Given the description of an element on the screen output the (x, y) to click on. 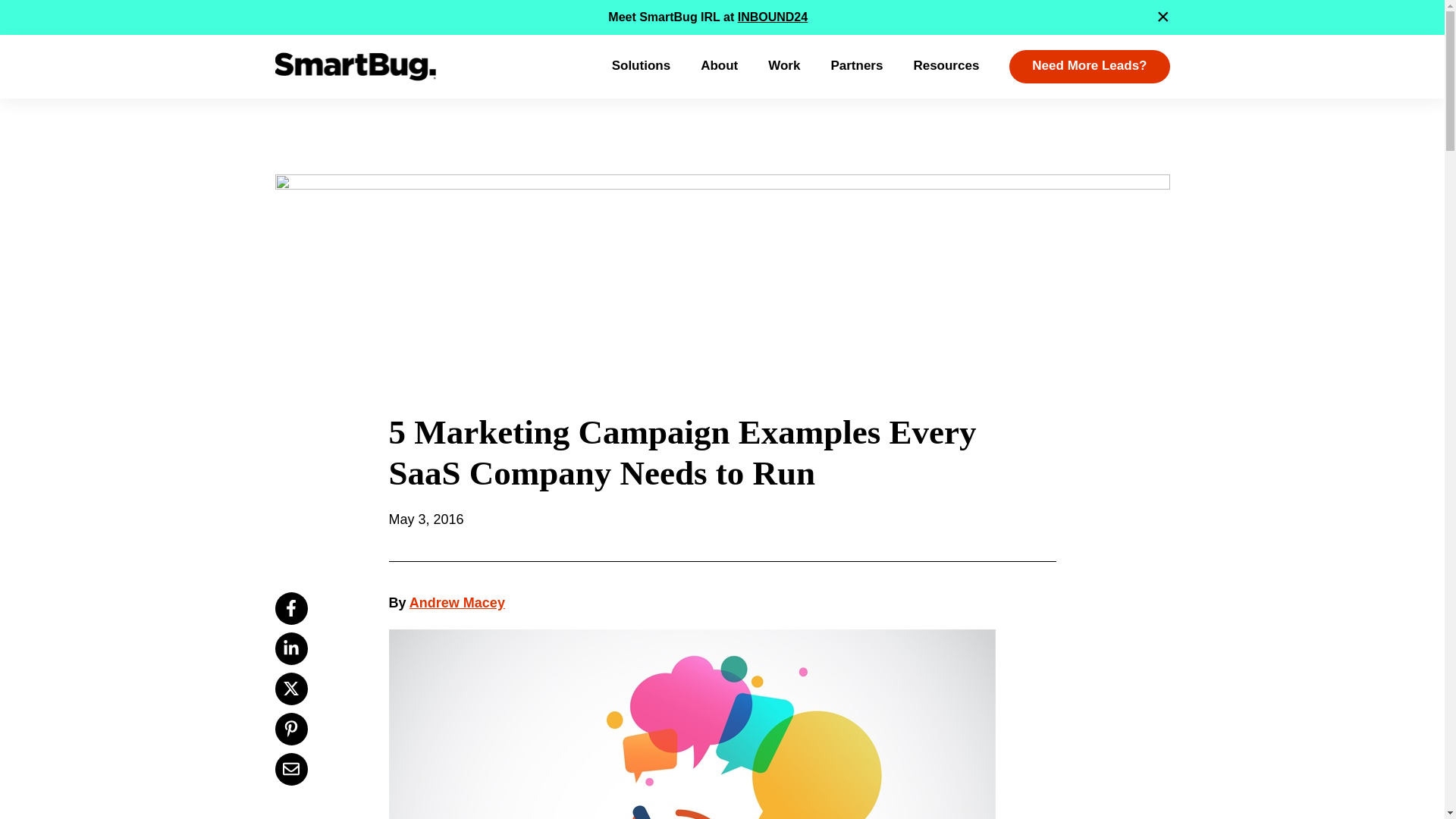
INBOUND24 (773, 16)
Work (783, 65)
Need More Leads? (1089, 66)
Solutions (640, 65)
About (719, 65)
